Given the description of an element on the screen output the (x, y) to click on. 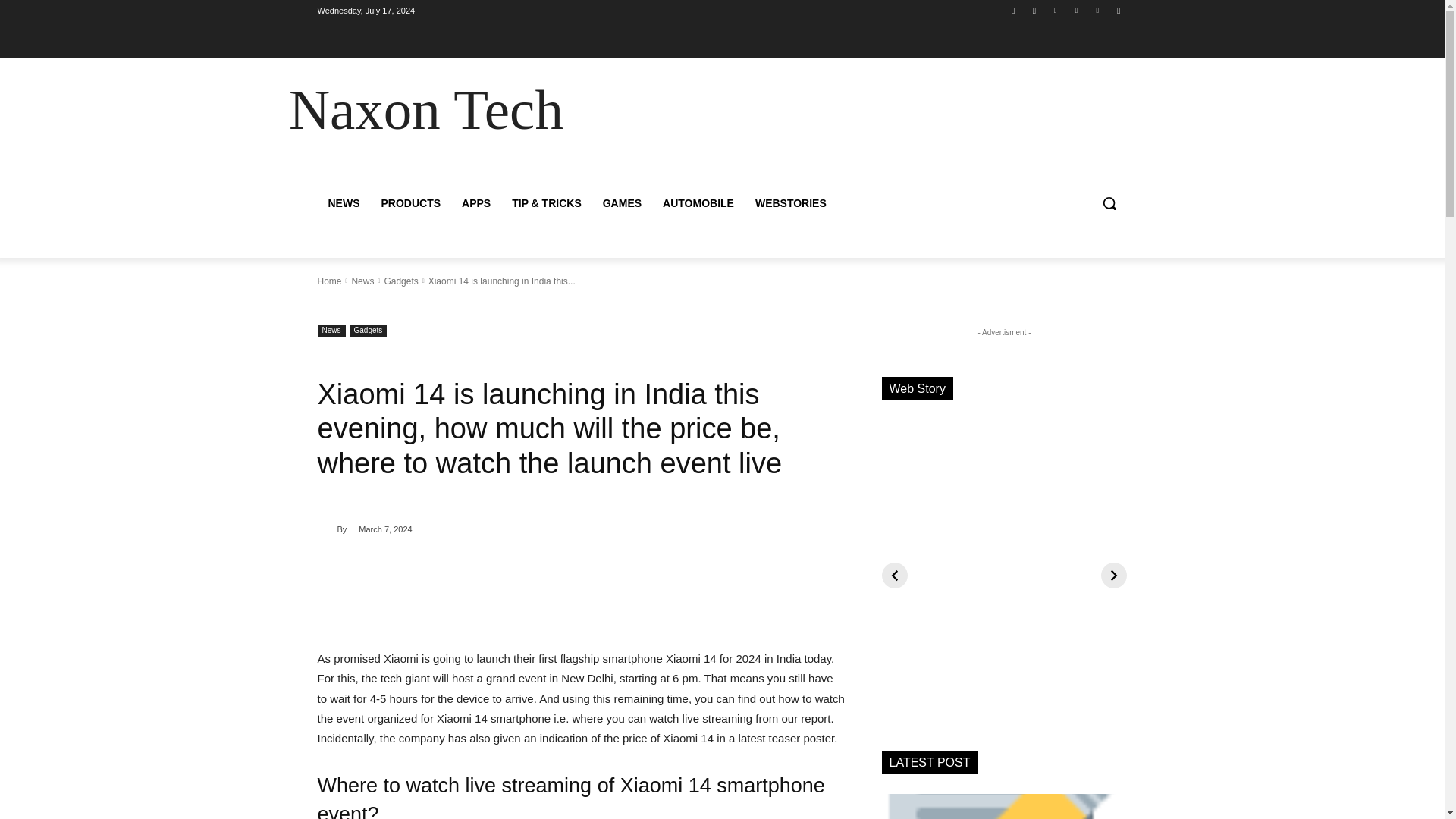
Youtube (1117, 9)
Instagram (1034, 9)
Pinterest (1075, 9)
View all posts in News (362, 281)
GAMES (622, 203)
Facebook (1013, 9)
APPS (475, 203)
Home (328, 281)
PRODUCTS (410, 203)
News (362, 281)
WEBSTORIES (790, 203)
NEWS (343, 203)
Gadgets (368, 330)
AUTOMOBILE (698, 203)
Twitter (1097, 9)
